Given the description of an element on the screen output the (x, y) to click on. 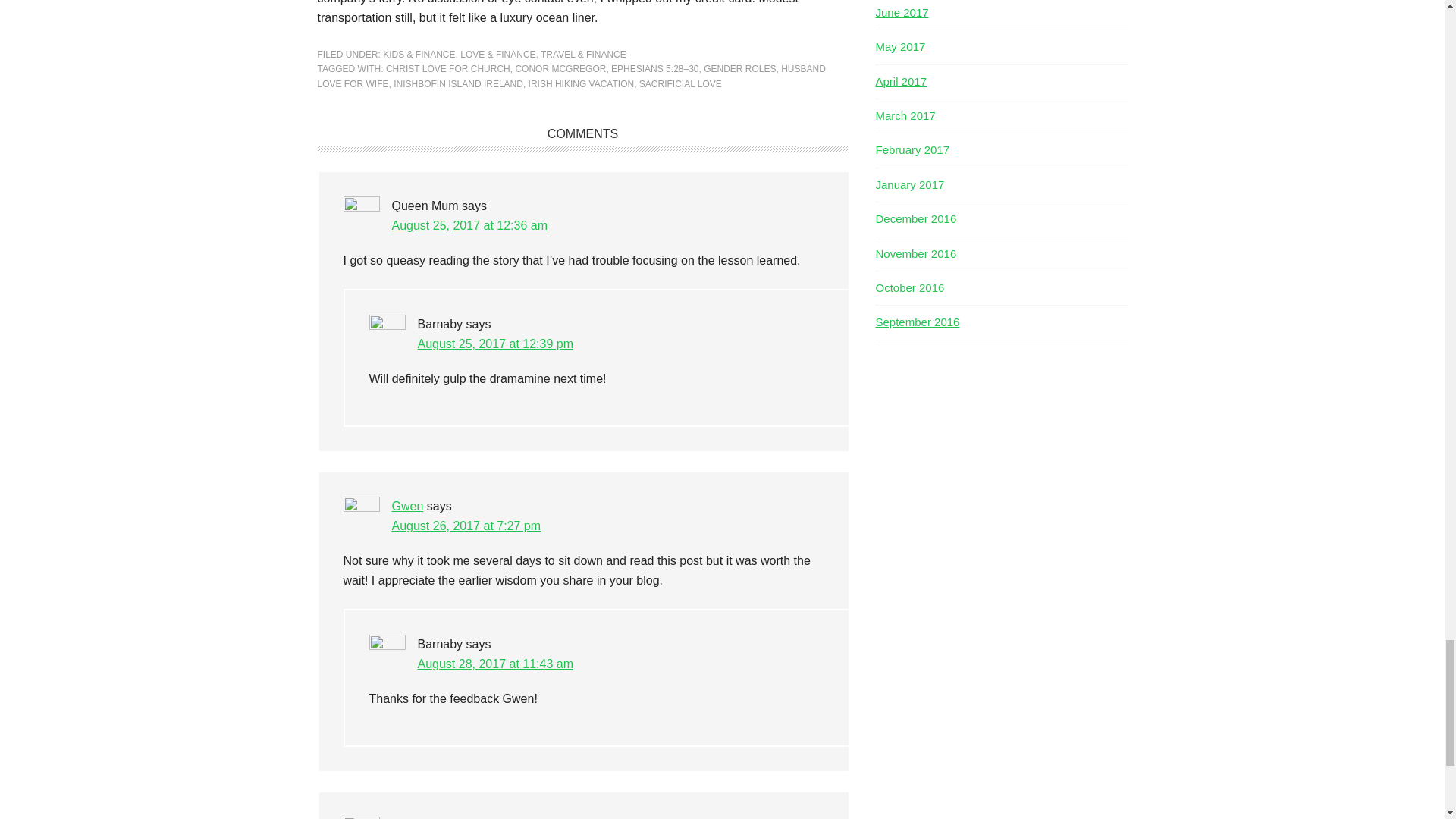
CHRIST LOVE FOR CHURCH (448, 68)
August 25, 2017 at 12:36 am (469, 225)
CONOR MCGREGOR (560, 68)
Gwen (407, 505)
INISHBOFIN ISLAND IRELAND (457, 83)
August 25, 2017 at 12:39 pm (494, 343)
SACRIFICIAL LOVE (680, 83)
HUSBAND LOVE FOR WIFE (571, 76)
August 28, 2017 at 11:43 am (494, 663)
August 26, 2017 at 7:27 pm (465, 525)
